Given the description of an element on the screen output the (x, y) to click on. 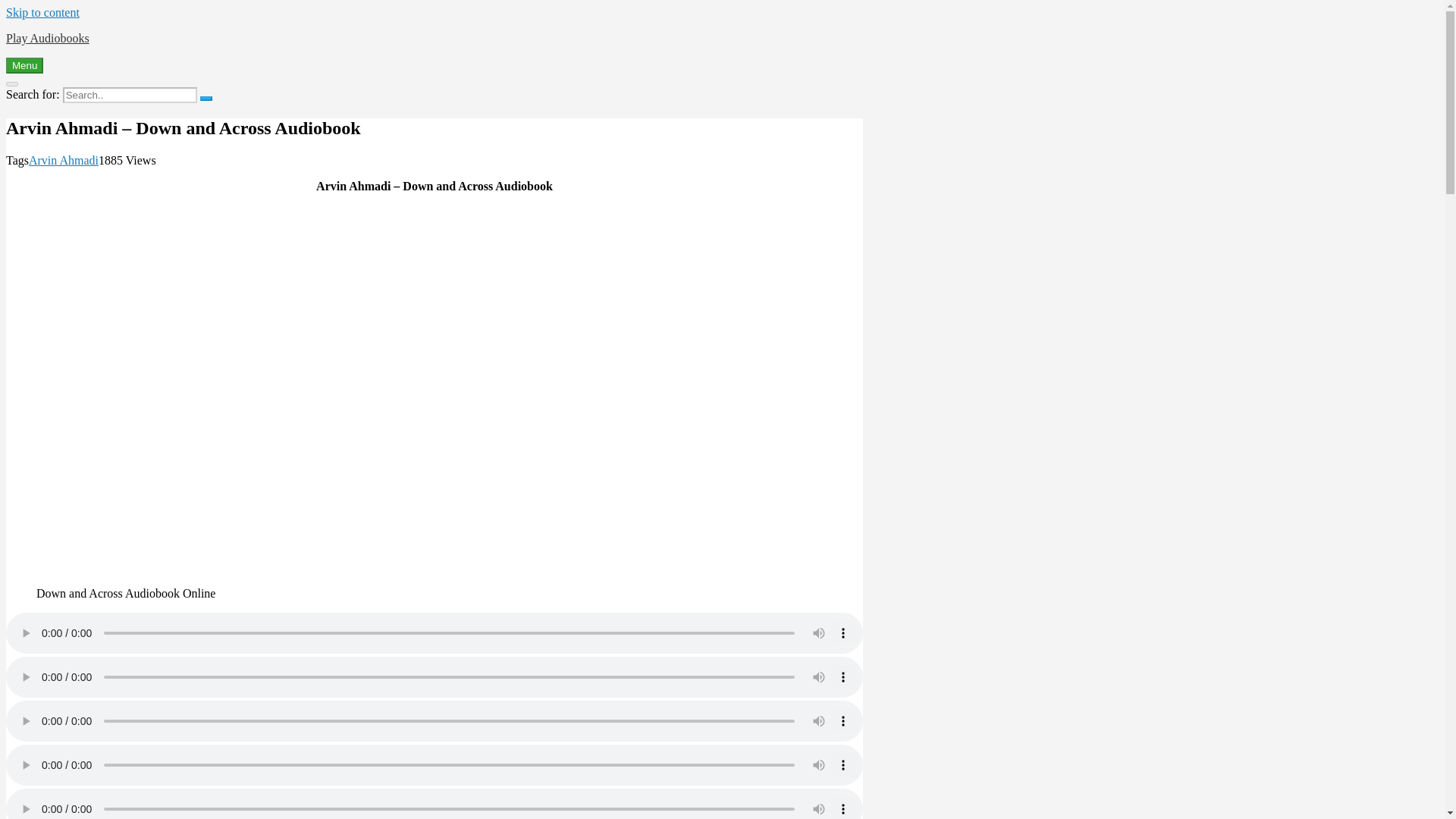
Skip to content (42, 11)
Menu (24, 65)
Arvin Ahmadi (64, 160)
Play Audiobooks (46, 38)
